Given the description of an element on the screen output the (x, y) to click on. 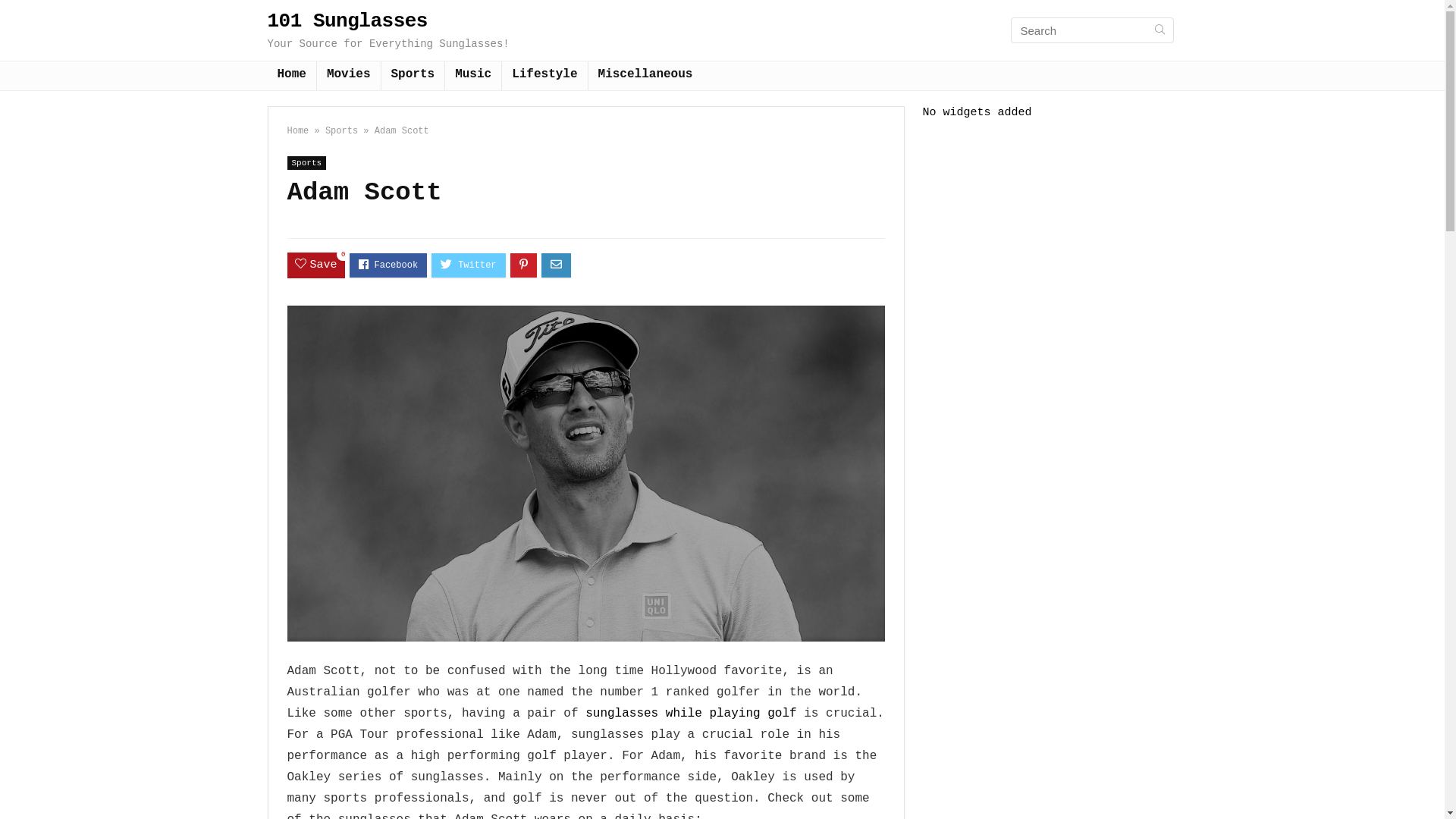
Miscellaneous Element type: text (645, 75)
Sports Element type: text (413, 75)
Music Element type: text (473, 75)
Lifestyle Element type: text (544, 75)
Sports Element type: text (306, 162)
Home Element type: text (290, 75)
Home Element type: text (297, 130)
Sports Element type: text (341, 130)
Movies Element type: text (348, 75)
sunglasses while playing golf Element type: text (690, 713)
